Given the description of an element on the screen output the (x, y) to click on. 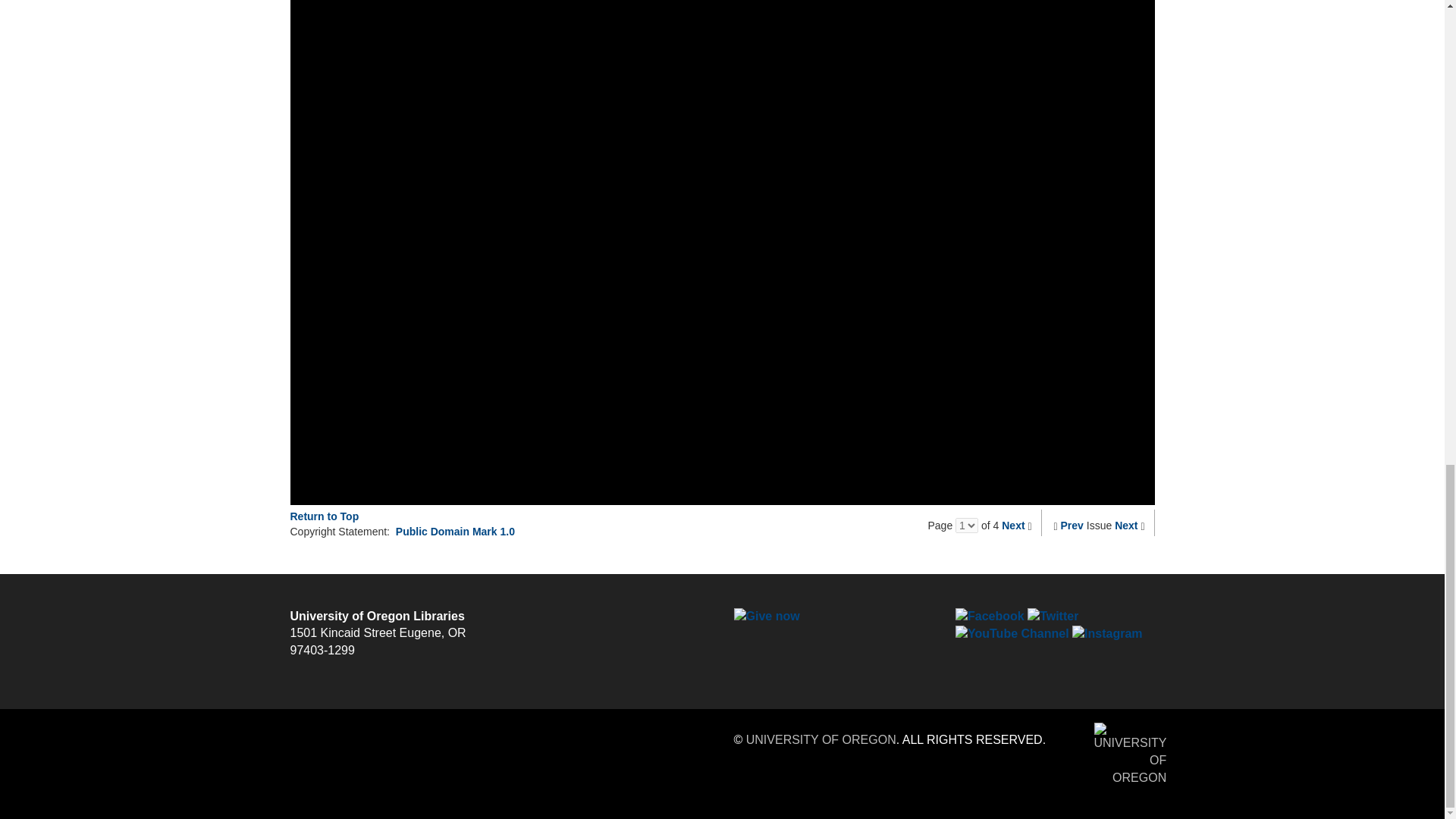
Public Domain Mark 1.0 (455, 531)
Next (1126, 525)
Return to Top (323, 516)
Next (1013, 525)
Prev (1072, 525)
